Given the description of an element on the screen output the (x, y) to click on. 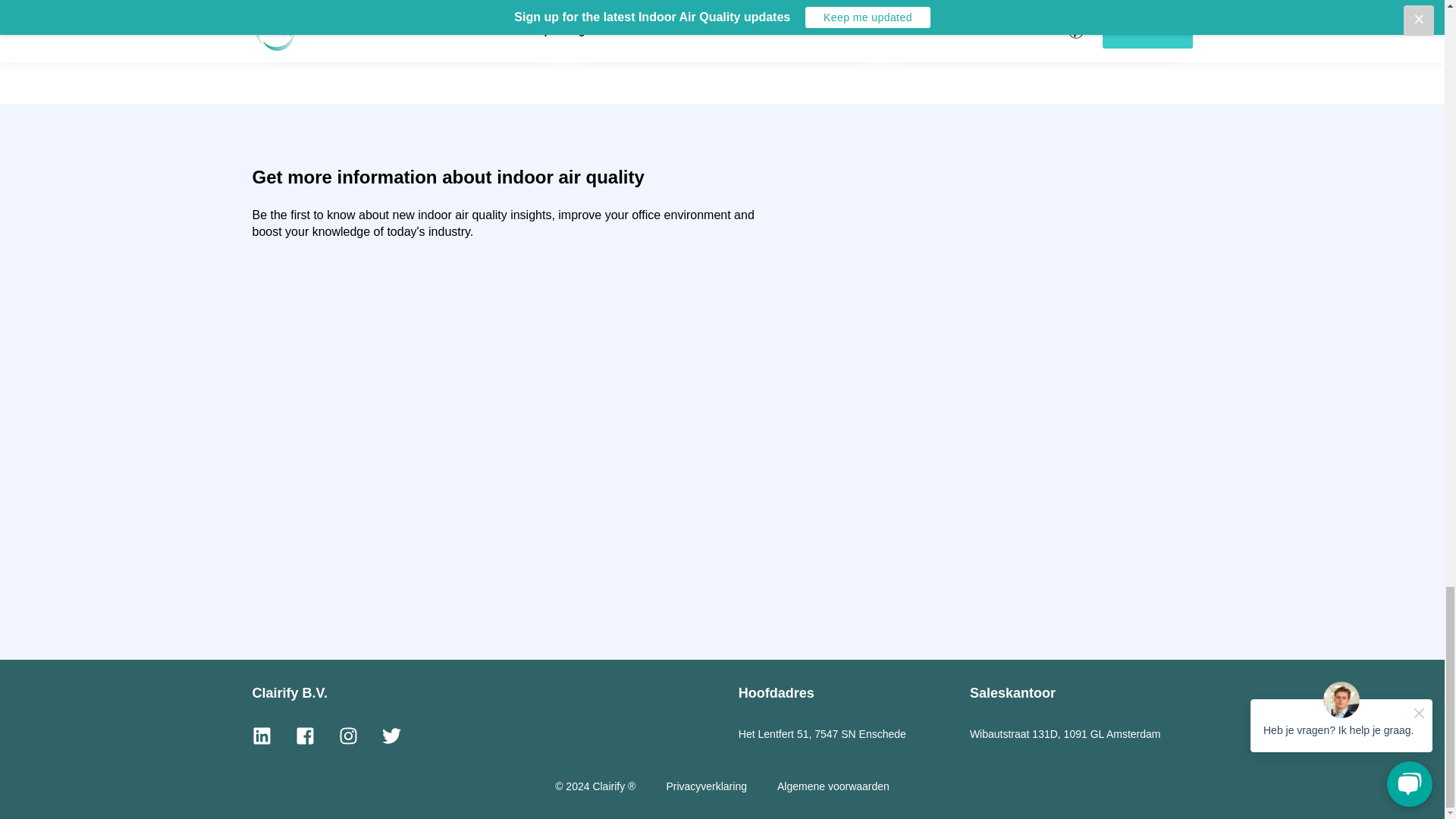
Het Lentfert 51, 7547 SN Enschede (821, 734)
Algemene voorwaarden (833, 786)
Privacyverklaring (705, 786)
Wibautstraat 131D, 1091 GL Amsterdam (1064, 734)
